Given the description of an element on the screen output the (x, y) to click on. 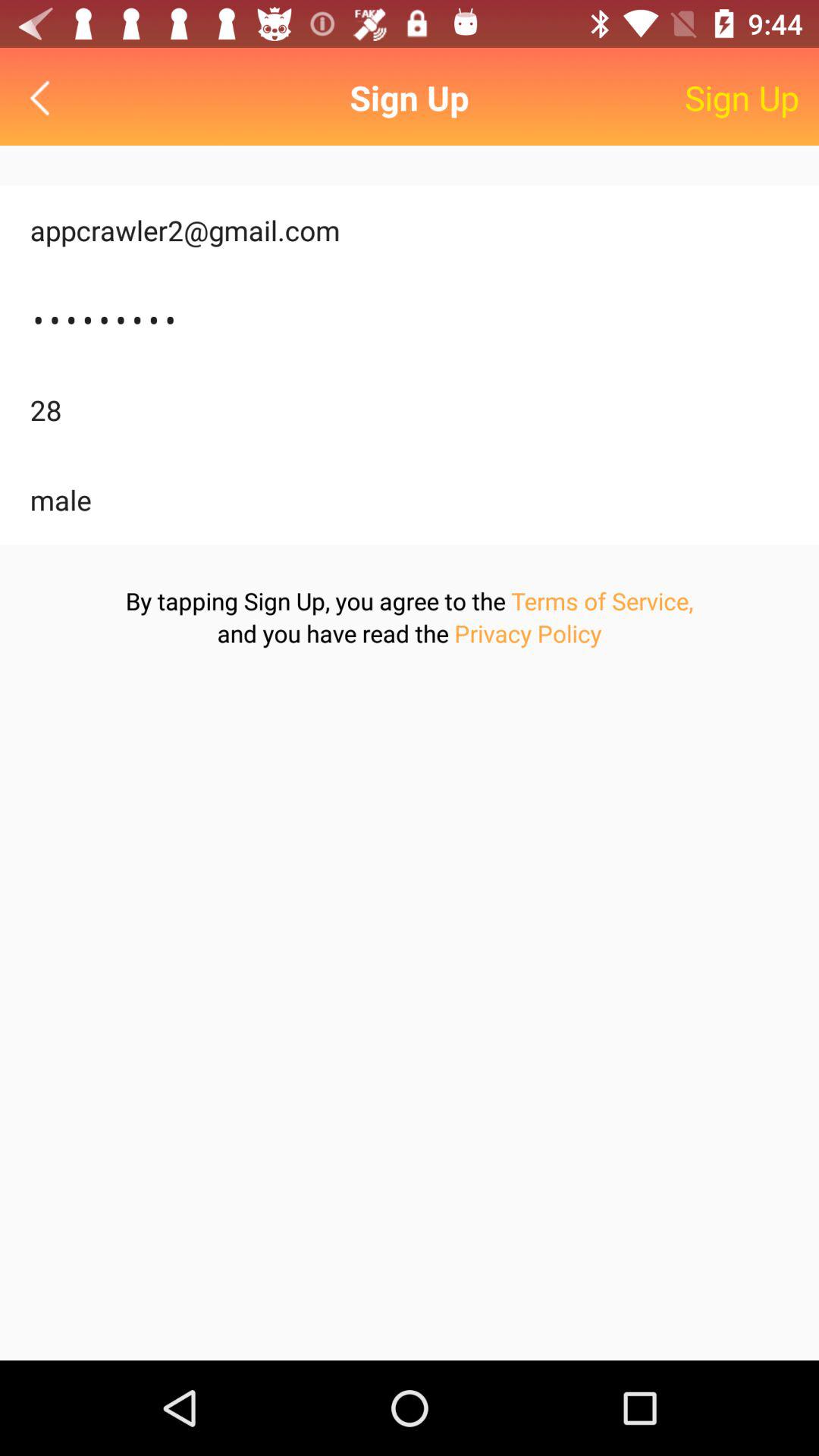
select item at the top left corner (43, 97)
